Given the description of an element on the screen output the (x, y) to click on. 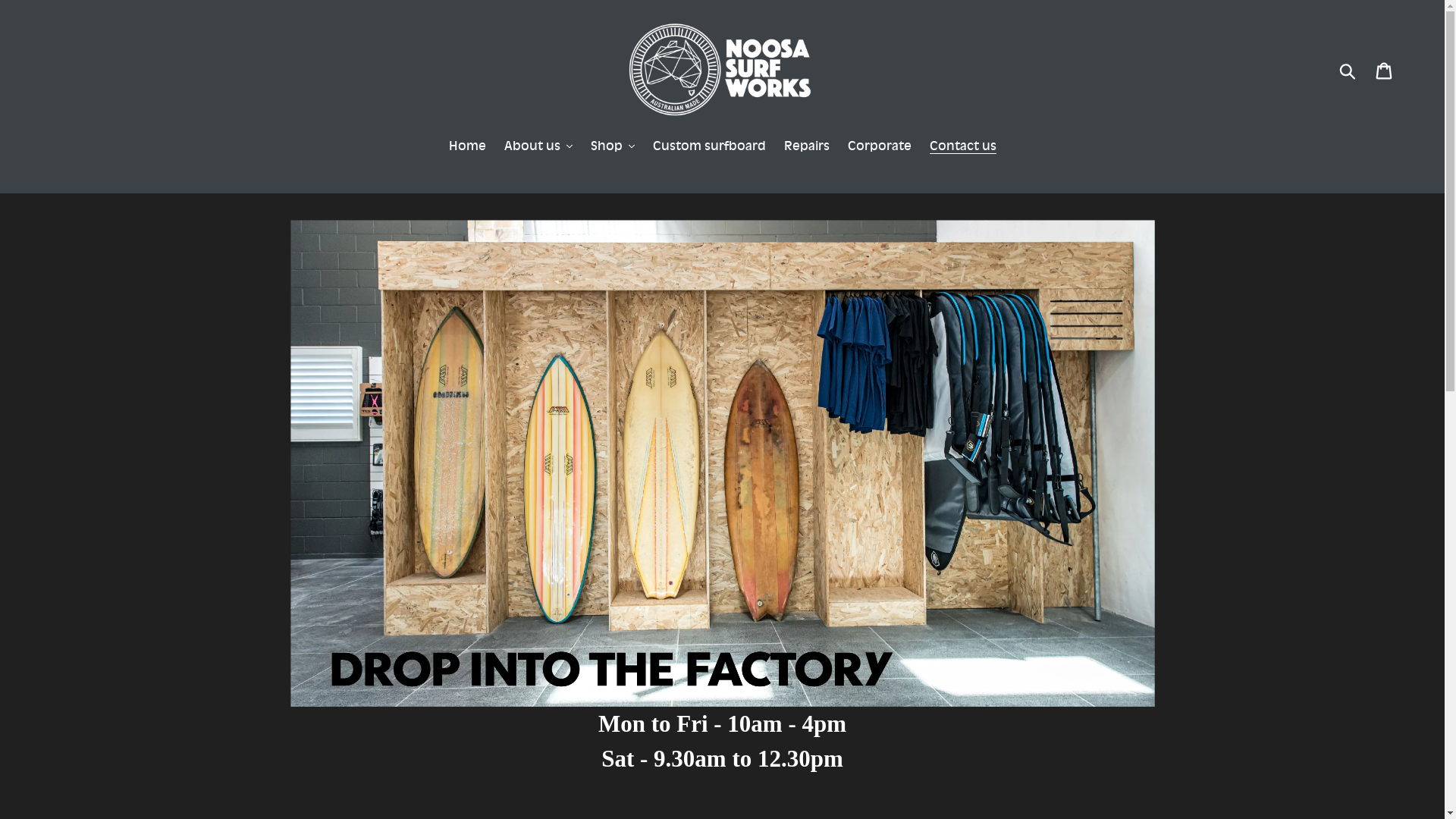
Submit Element type: text (1348, 69)
Corporate Element type: text (879, 146)
Repairs Element type: text (806, 146)
Home Element type: text (467, 146)
Custom surfboard Element type: text (708, 146)
Contact us Element type: text (963, 146)
Cart Element type: text (1384, 70)
